Given the description of an element on the screen output the (x, y) to click on. 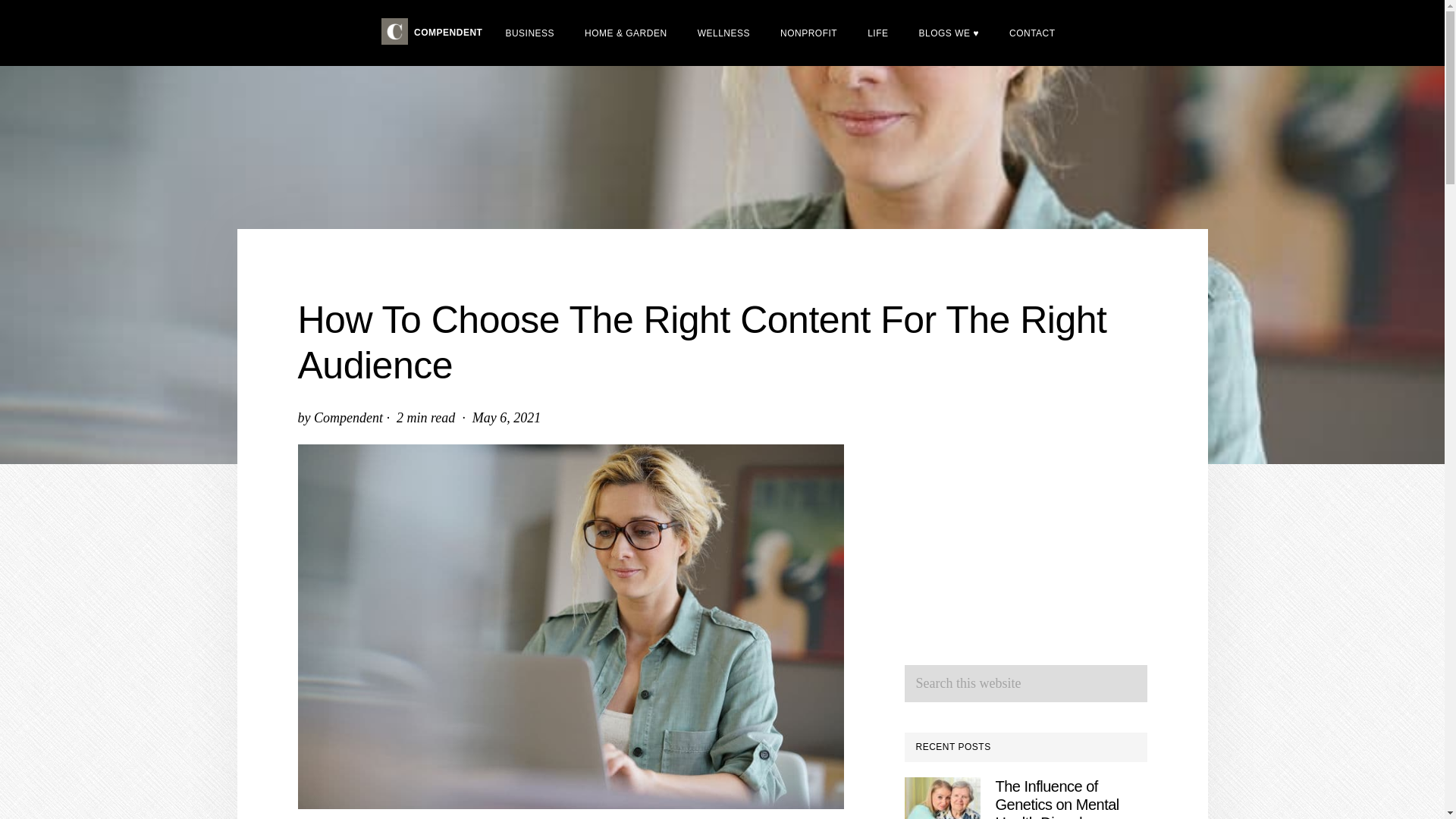
CONTACT (1032, 31)
  COMPENDENT (431, 33)
LIFE (876, 31)
Advertisement (1025, 539)
NONPROFIT (808, 31)
The Influence of Genetics on Mental Health Disorders (1056, 798)
Compendent (348, 417)
